Given the description of an element on the screen output the (x, y) to click on. 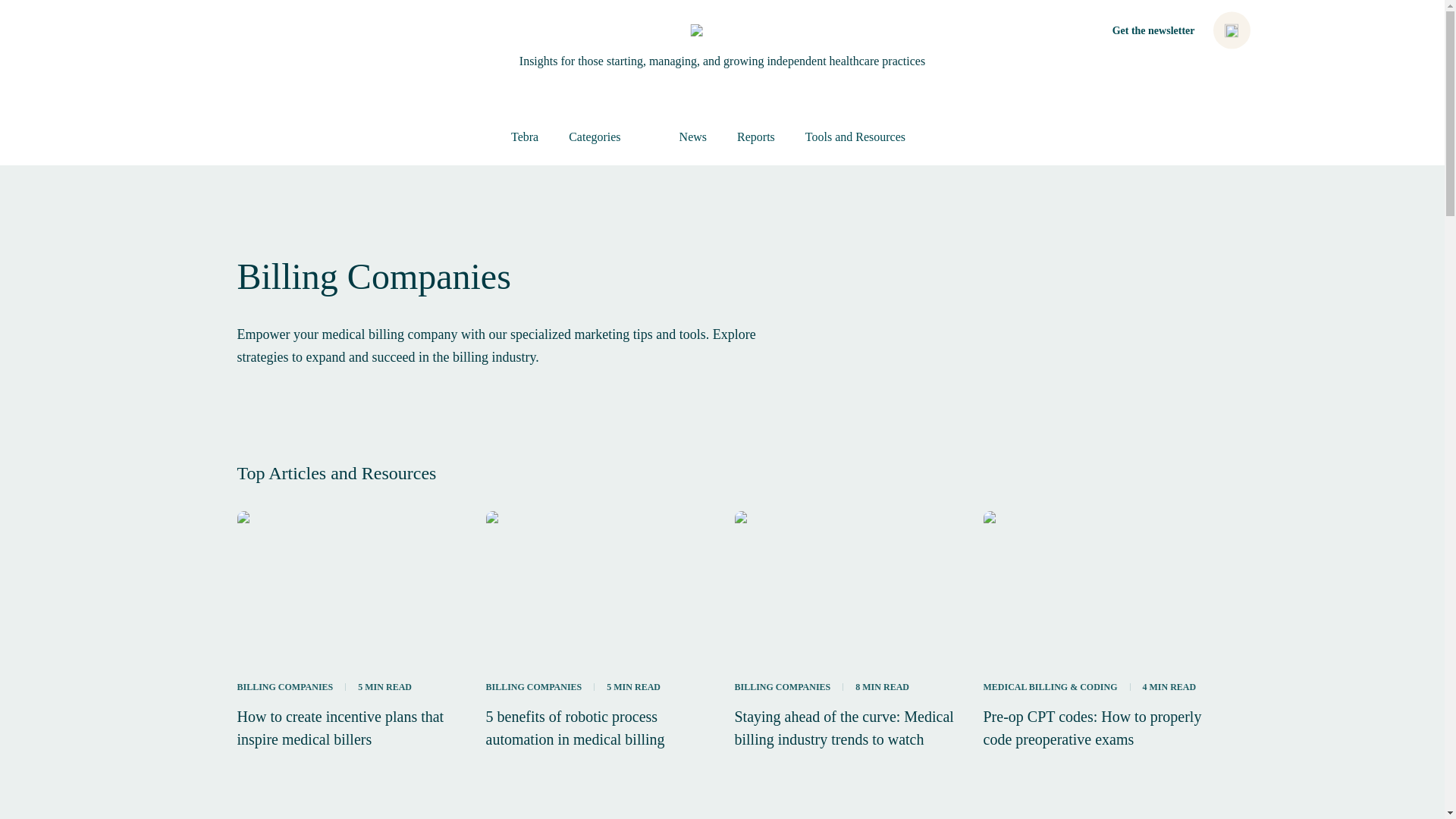
Get the newsletter (1153, 29)
Billing Companies (781, 686)
Reports (756, 136)
Tebra (524, 136)
Tools and Resources (868, 136)
Categories (608, 136)
News (692, 136)
Billing Companies (532, 686)
Billing Companies (284, 686)
